Given the description of an element on the screen output the (x, y) to click on. 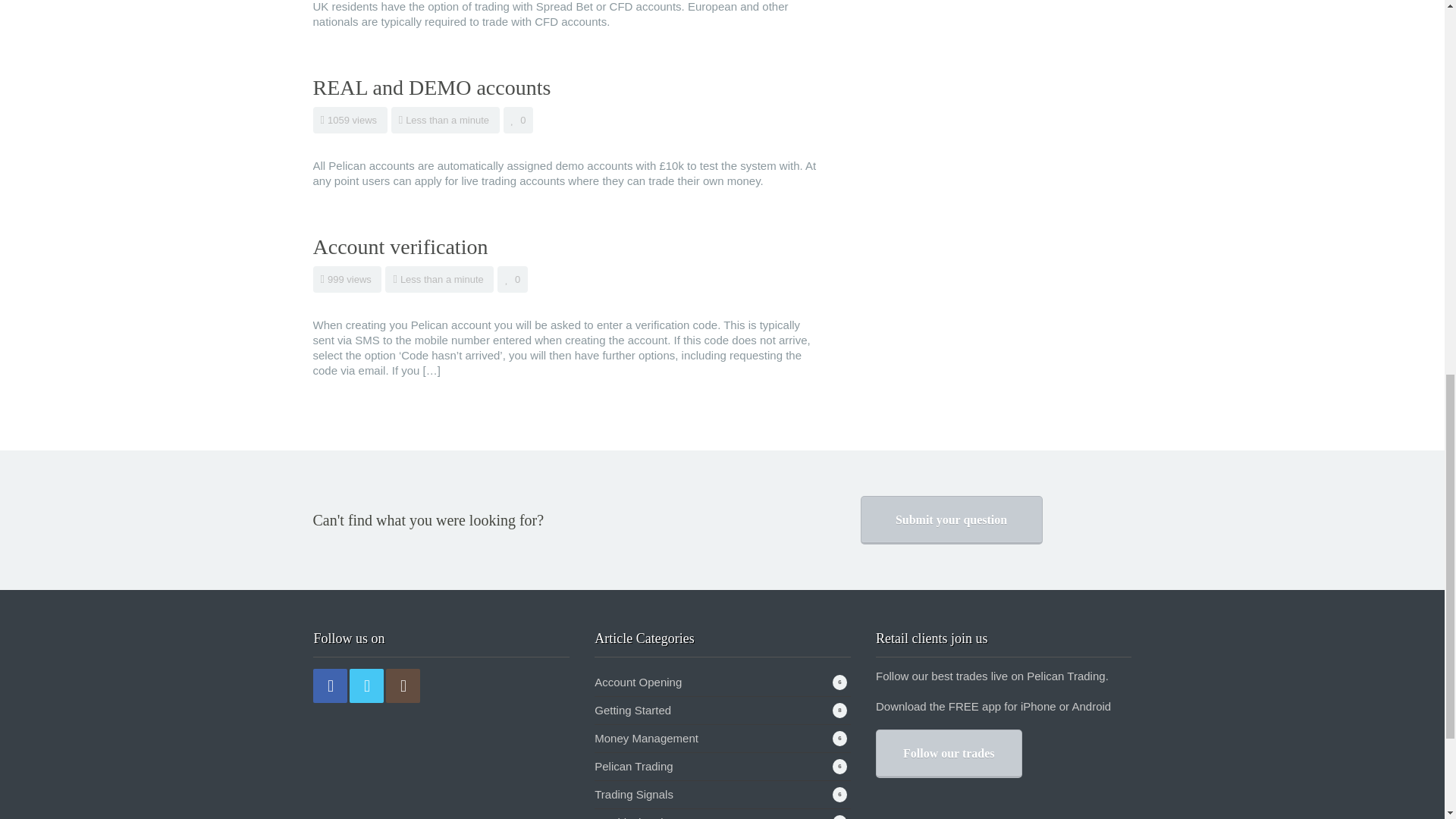
0 (518, 120)
Troubleshooting (634, 817)
Account verification (400, 246)
REAL and DEMO accounts (431, 87)
Submit your question (951, 520)
Follow our trades (949, 753)
Getting Started (632, 709)
Permanent Link to REAL and DEMO accounts (431, 87)
Like this (512, 279)
Like this (518, 120)
Permanent Link to Account verification (400, 246)
Trading Signals (633, 793)
Account Opening (637, 681)
Pelican Trading (633, 766)
0 (512, 279)
